Given the description of an element on the screen output the (x, y) to click on. 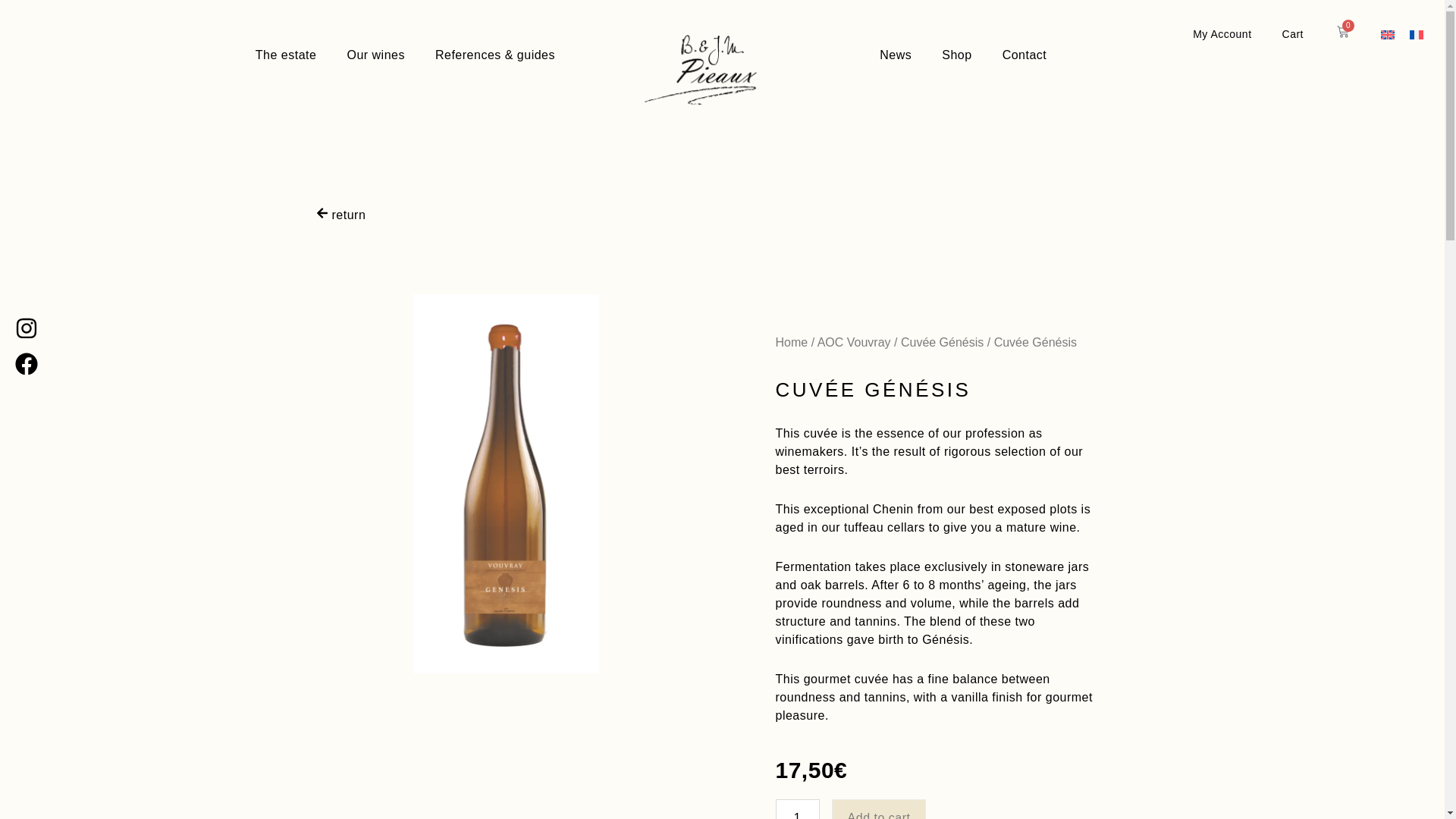
Cart (1292, 34)
Add to cart (878, 809)
1 (796, 809)
The estate (285, 55)
return (340, 215)
Home (791, 341)
News (895, 55)
Our wines (375, 55)
Contact (1024, 55)
Shop (956, 55)
